Given the description of an element on the screen output the (x, y) to click on. 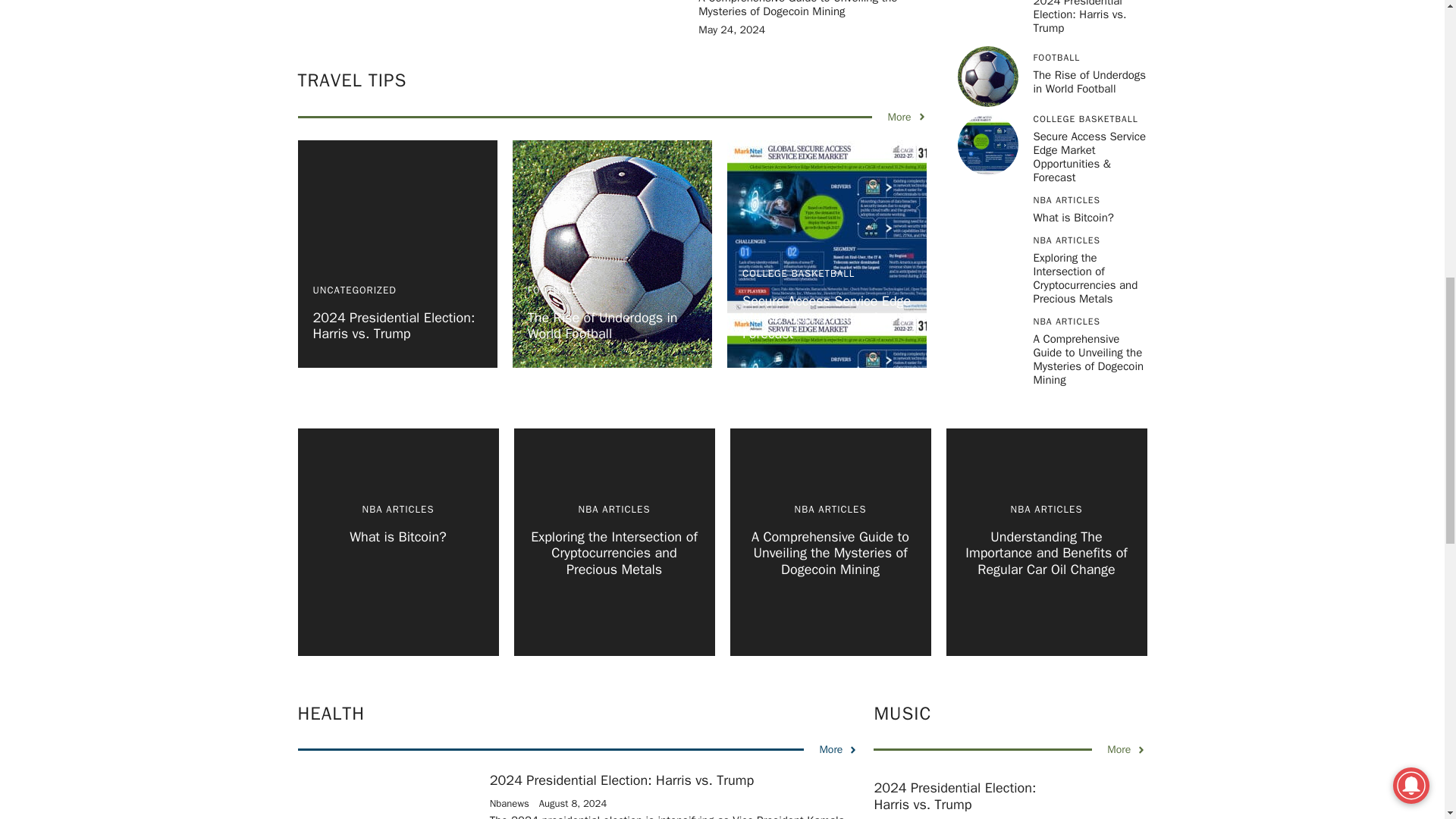
More (906, 116)
FOOTBALL (552, 289)
2024 Presidential Election: Harris vs. Trump (393, 326)
UNCATEGORIZED (354, 289)
The Rise of Underdogs in World Football (602, 326)
